Given the description of an element on the screen output the (x, y) to click on. 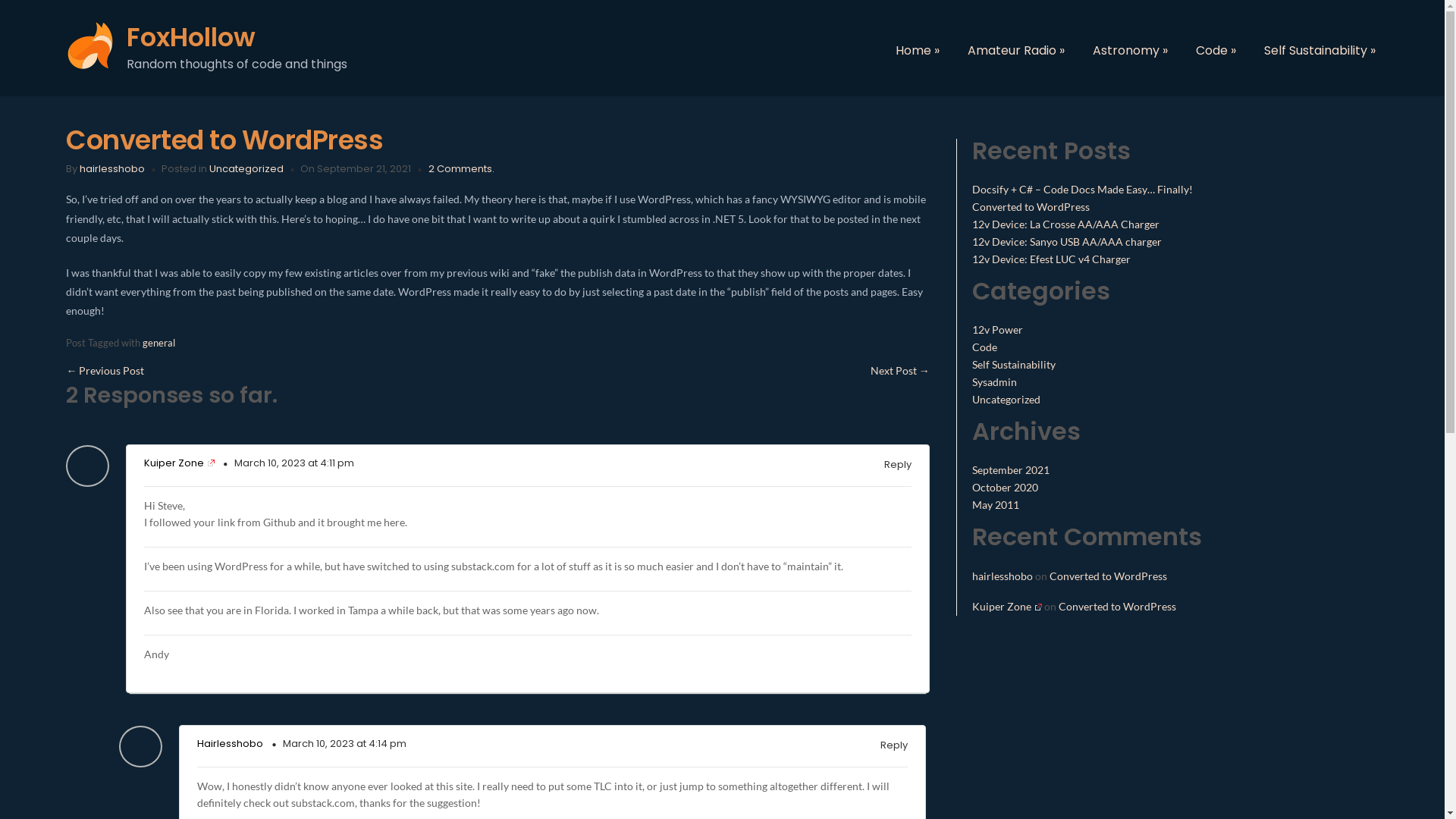
October 2020 Element type: text (1005, 486)
Sysadmin Element type: text (994, 381)
12v Device: Efest LUC v4 Charger Element type: text (1051, 258)
March 10, 2023 at 4:11 pm Element type: text (294, 462)
12v Device: Sanyo USB AA/AAA charger Element type: text (1066, 241)
12v Power Element type: text (997, 329)
Converted to WordPress Element type: text (1117, 605)
Kuiper Zone Element type: text (1006, 605)
Hairlesshobo Element type: text (230, 743)
Kuiper Zone Element type: text (179, 462)
Self Sustainability Element type: text (1013, 363)
Converted to WordPress Element type: text (1030, 206)
hairlesshobo Element type: text (1002, 575)
hairlesshobo Element type: text (111, 168)
Uncategorized Element type: text (246, 168)
Reply Element type: text (893, 745)
Reply Element type: text (897, 464)
September 2021 Element type: text (1010, 469)
Converted to WordPress Element type: text (1108, 575)
Converted to WordPress Element type: text (223, 139)
2 Comments. Element type: text (461, 168)
March 10, 2023 at 4:14 pm Element type: text (344, 743)
Code Element type: text (984, 346)
FoxHollow Element type: text (304, 37)
Uncategorized Element type: text (1006, 398)
12v Device: La Crosse AA/AAA Charger Element type: text (1065, 223)
May 2011 Element type: text (995, 504)
general Element type: text (158, 342)
